Given the description of an element on the screen output the (x, y) to click on. 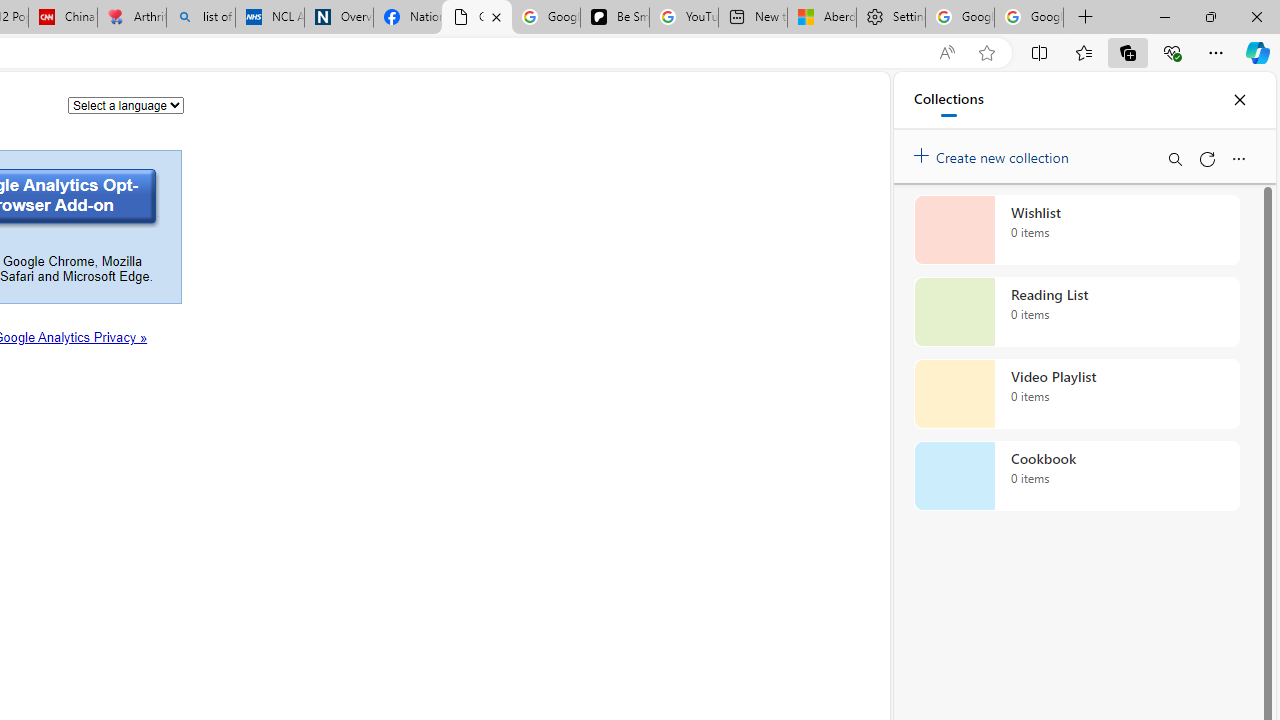
Wishlist collection, 0 items (1076, 229)
Reading List collection, 0 items (1076, 312)
